Given the description of an element on the screen output the (x, y) to click on. 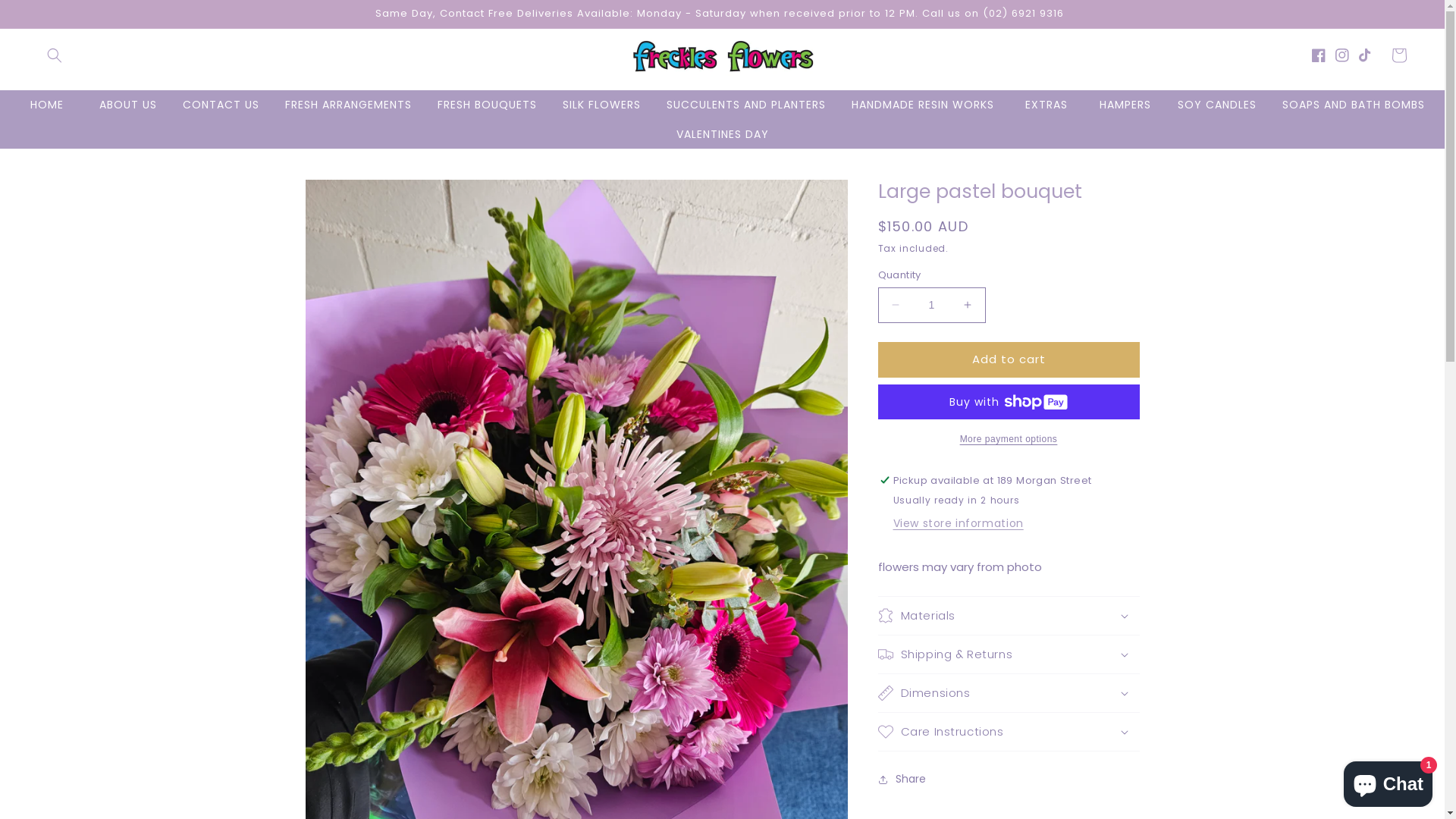
View store information Element type: text (958, 524)
Facebook Element type: text (1323, 55)
SOY CANDLES Element type: text (1216, 104)
CONTACT US Element type: text (220, 104)
Decrease quantity for Large pastel bouquet Element type: text (895, 304)
FRESH BOUQUETS Element type: text (487, 104)
SUCCULENTS AND PLANTERS Element type: text (746, 104)
TikTok Element type: text (1370, 55)
More payment options Element type: text (1008, 438)
Cart Element type: text (1398, 55)
HOME Element type: text (46, 104)
Shopify online store chat Element type: hover (1388, 780)
SILK FLOWERS Element type: text (600, 104)
SOAPS AND BATH BOMBS Element type: text (1353, 104)
HAMPERS Element type: text (1125, 104)
ABOUT US Element type: text (127, 104)
FRESH ARRANGEMENTS Element type: text (347, 104)
VALENTINES DAY Element type: text (721, 133)
Skip to product information Element type: text (350, 196)
Add to cart Element type: text (1008, 358)
Increase quantity for Large pastel bouquet Element type: text (967, 304)
EXTRAS Element type: text (1046, 104)
HANDMADE RESIN WORKS Element type: text (922, 104)
Instagram Element type: text (1346, 55)
